Given the description of an element on the screen output the (x, y) to click on. 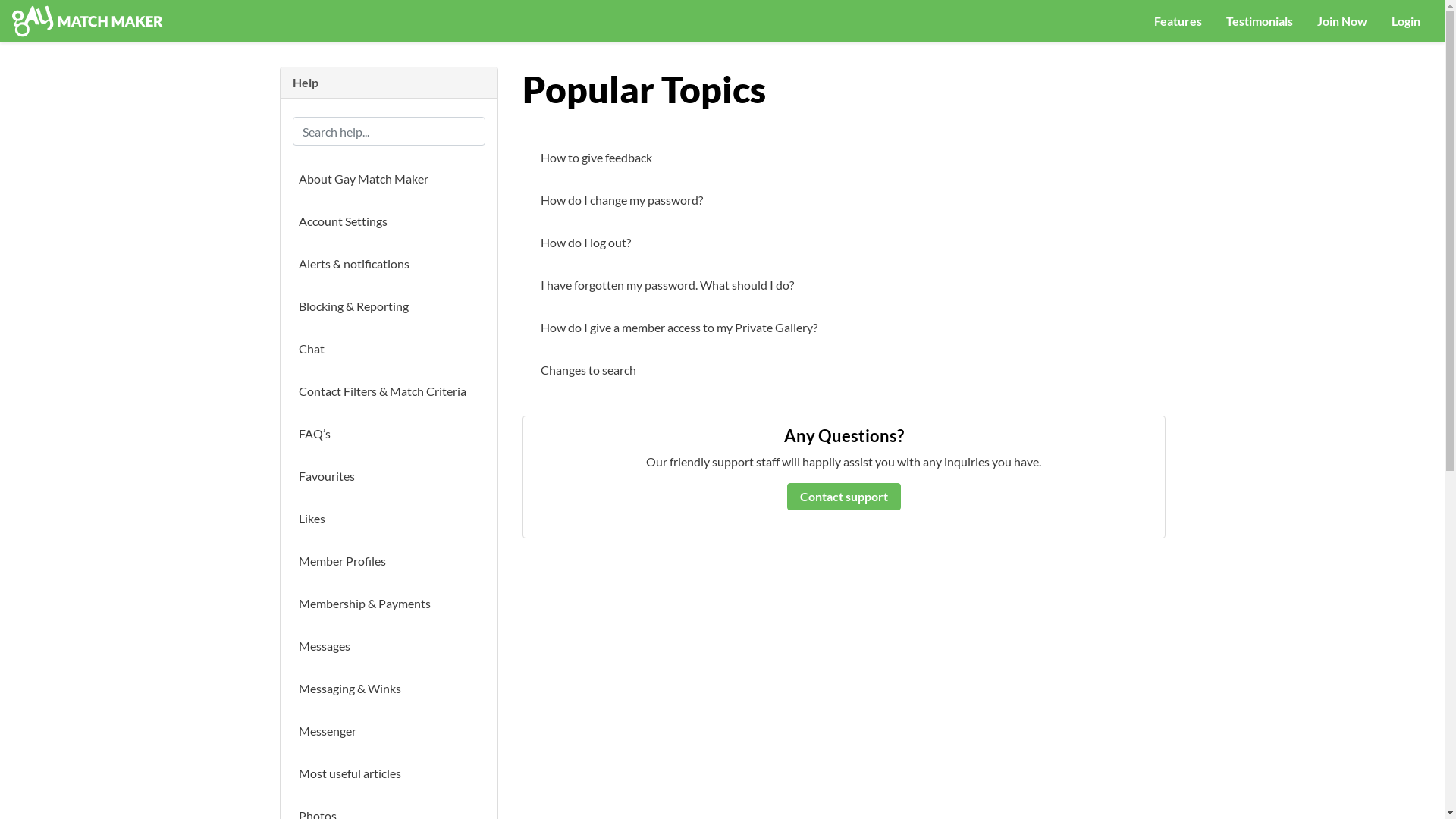
Membership & Payments Element type: text (388, 603)
Account Settings Element type: text (388, 221)
About Gay Match Maker Element type: text (388, 178)
Messenger Element type: text (388, 730)
Likes Element type: text (388, 518)
I have forgotten my password. What should I do? Element type: text (842, 284)
Favourites Element type: text (388, 476)
How do I give a member access to my Private Gallery? Element type: text (842, 327)
Join Now Element type: text (1342, 21)
How to give feedback Element type: text (842, 157)
Changes to search Element type: text (842, 369)
Contact support Element type: text (843, 495)
How do I change my password? Element type: text (842, 200)
Features Element type: text (1178, 21)
Alerts & notifications Element type: text (388, 263)
Chat Element type: text (388, 348)
Messaging & Winks Element type: text (388, 688)
Testimonials Element type: text (1259, 21)
Login Element type: text (1405, 21)
Member Profiles Element type: text (388, 561)
Blocking & Reporting Element type: text (388, 306)
Most useful articles Element type: text (388, 773)
Messages Element type: text (388, 645)
Contact Filters & Match Criteria Element type: text (388, 391)
How do I log out? Element type: text (842, 242)
